Given the description of an element on the screen output the (x, y) to click on. 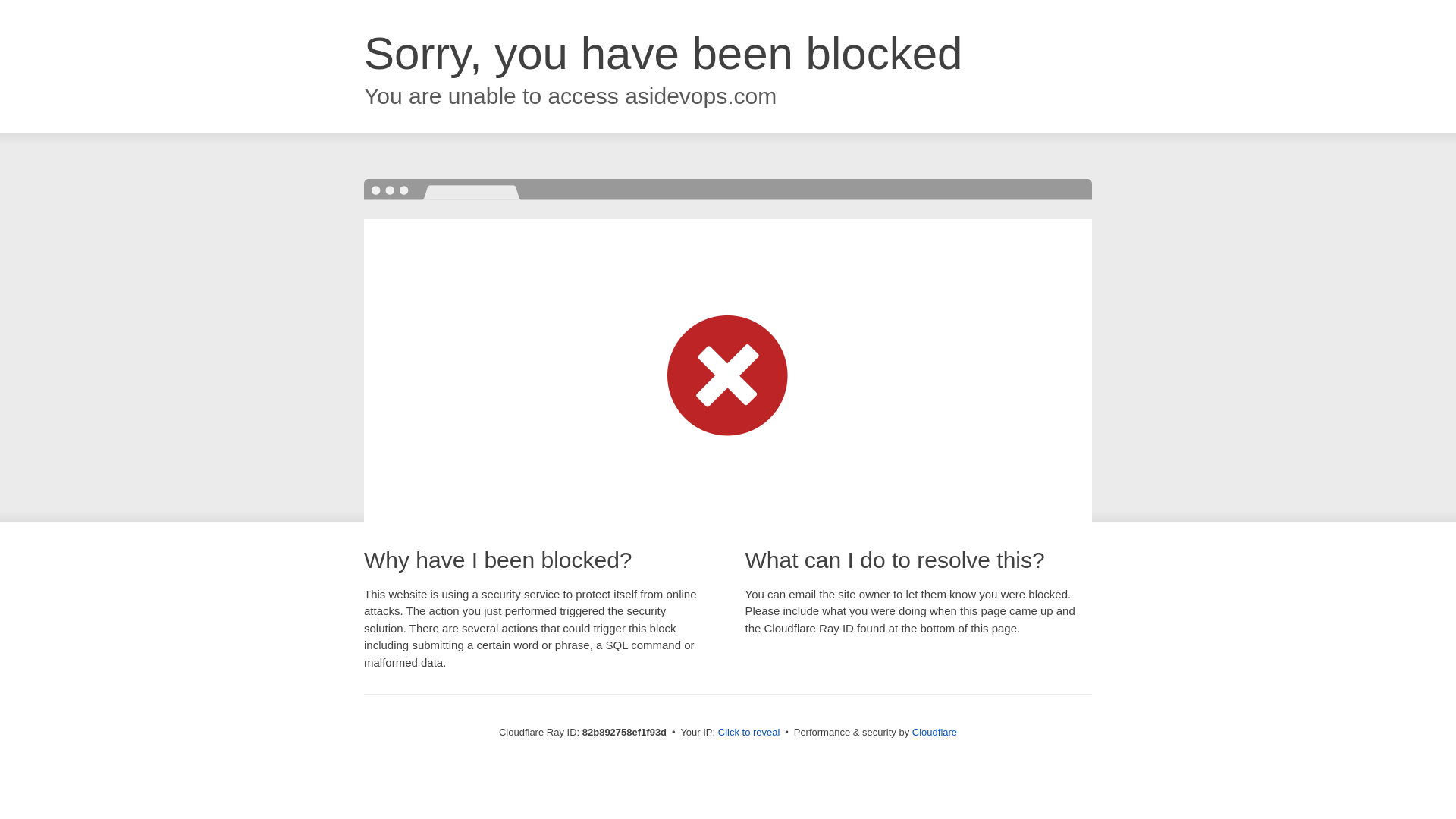
Cloudflare Element type: text (934, 731)
Click to reveal Element type: text (749, 732)
